Given the description of an element on the screen output the (x, y) to click on. 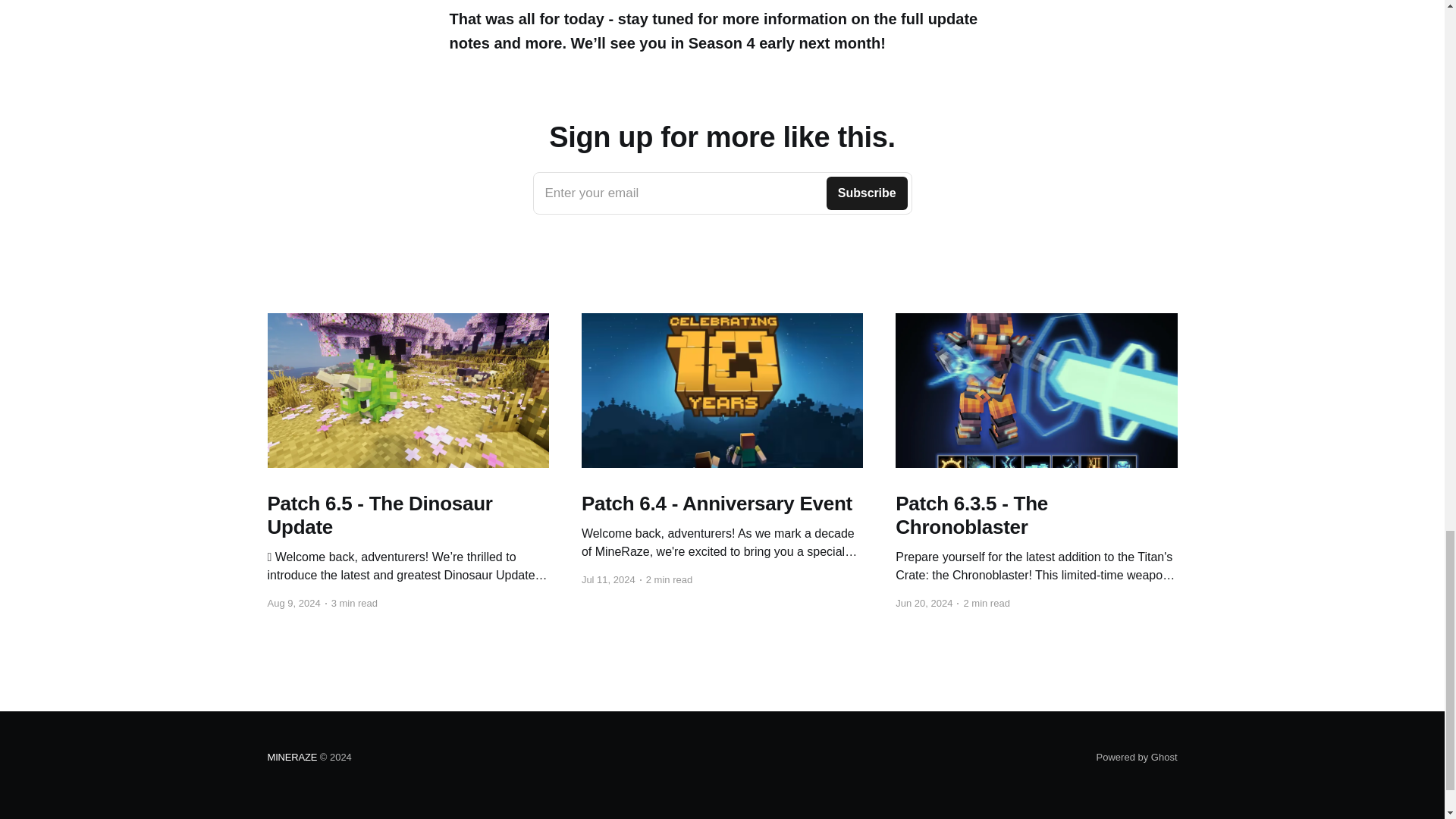
Powered by Ghost (721, 192)
MINERAZE (1136, 756)
